Given the description of an element on the screen output the (x, y) to click on. 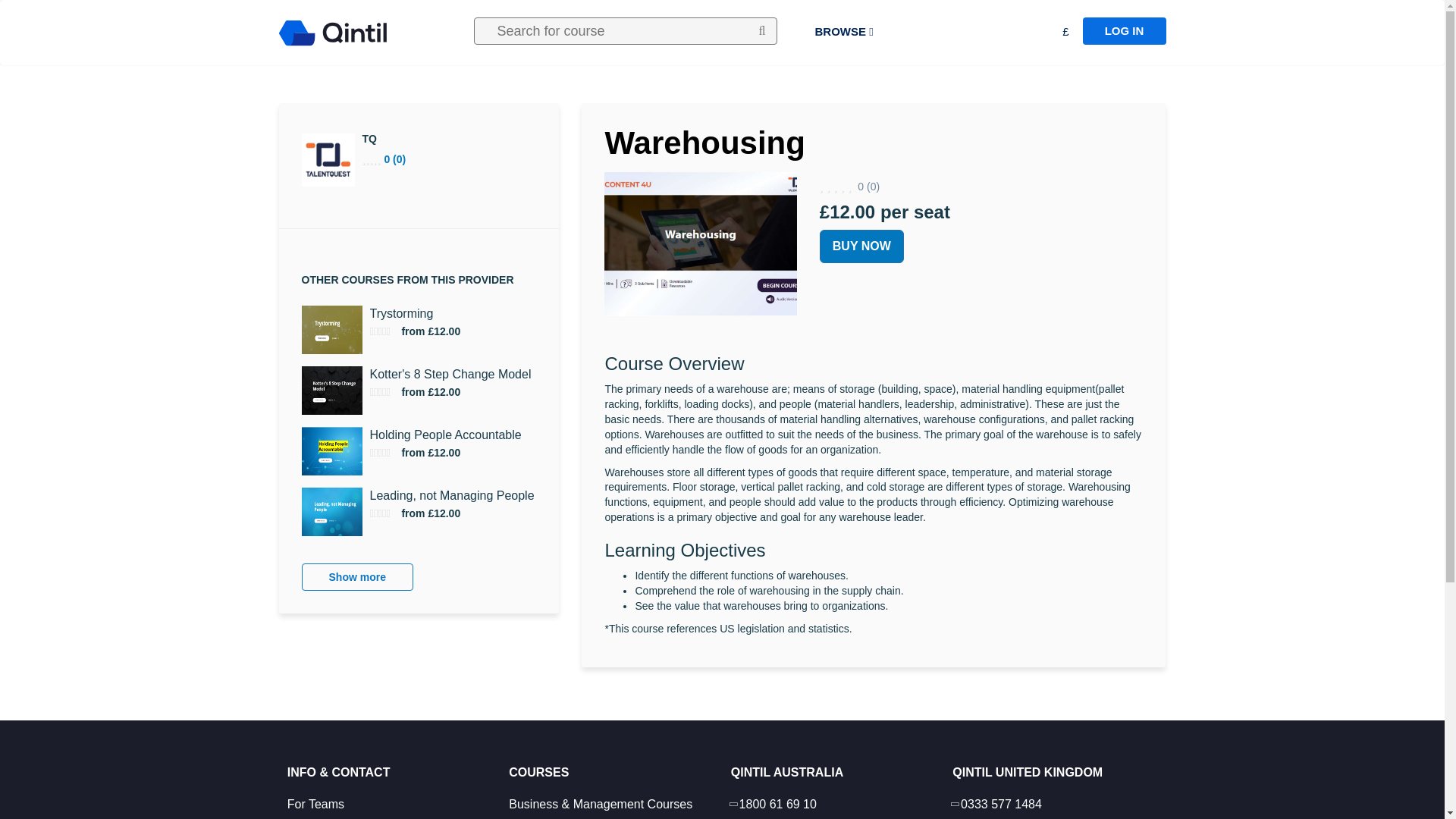
BROWSE (842, 31)
